Given the description of an element on the screen output the (x, y) to click on. 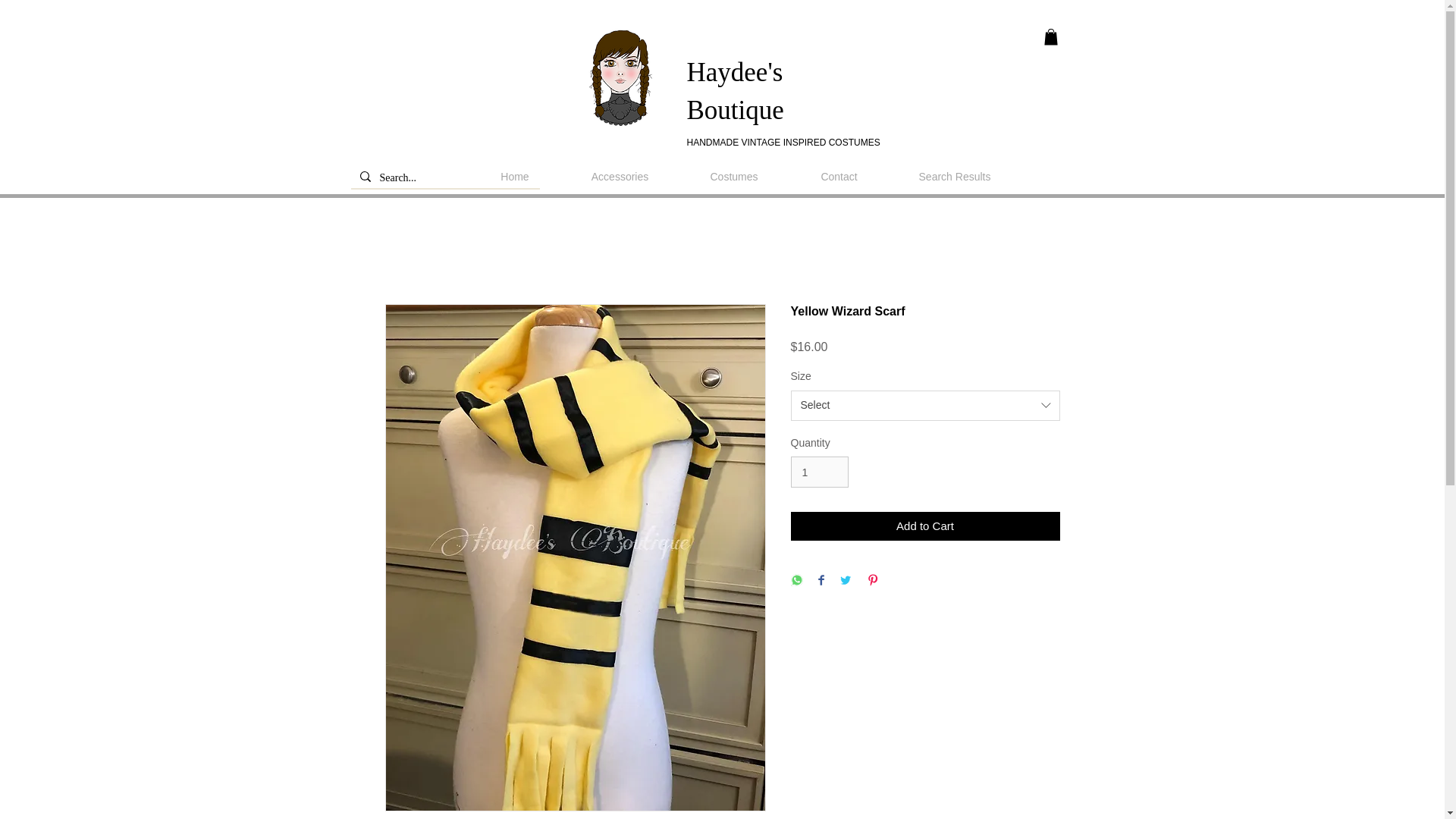
1 (818, 471)
Select (924, 405)
Logo Face.png (621, 77)
Search Results (954, 176)
Home (514, 176)
Contact (838, 176)
Add to Cart (924, 526)
Costumes (734, 176)
Accessories (619, 176)
